Given the description of an element on the screen output the (x, y) to click on. 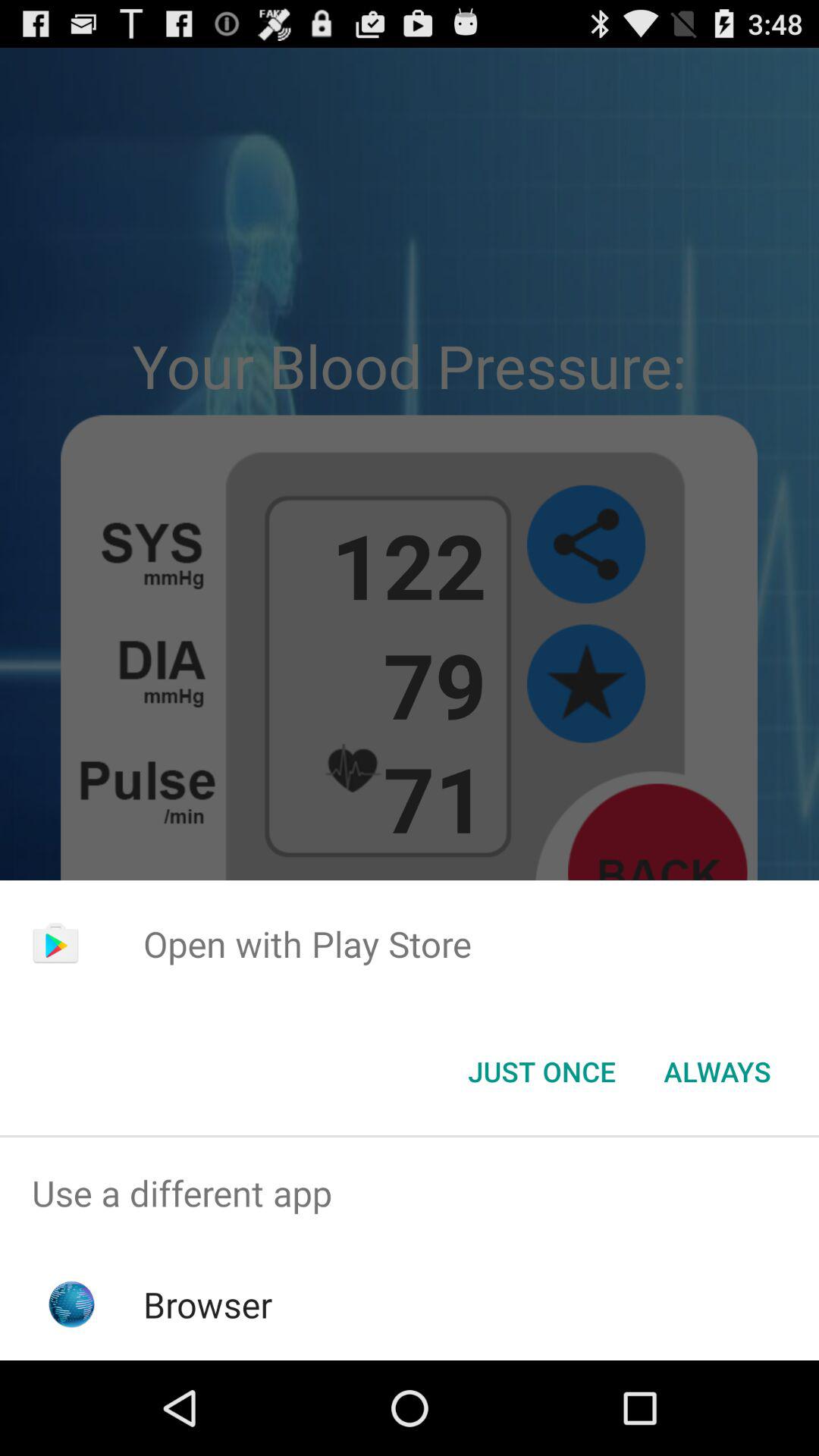
turn on the app above browser app (409, 1192)
